Given the description of an element on the screen output the (x, y) to click on. 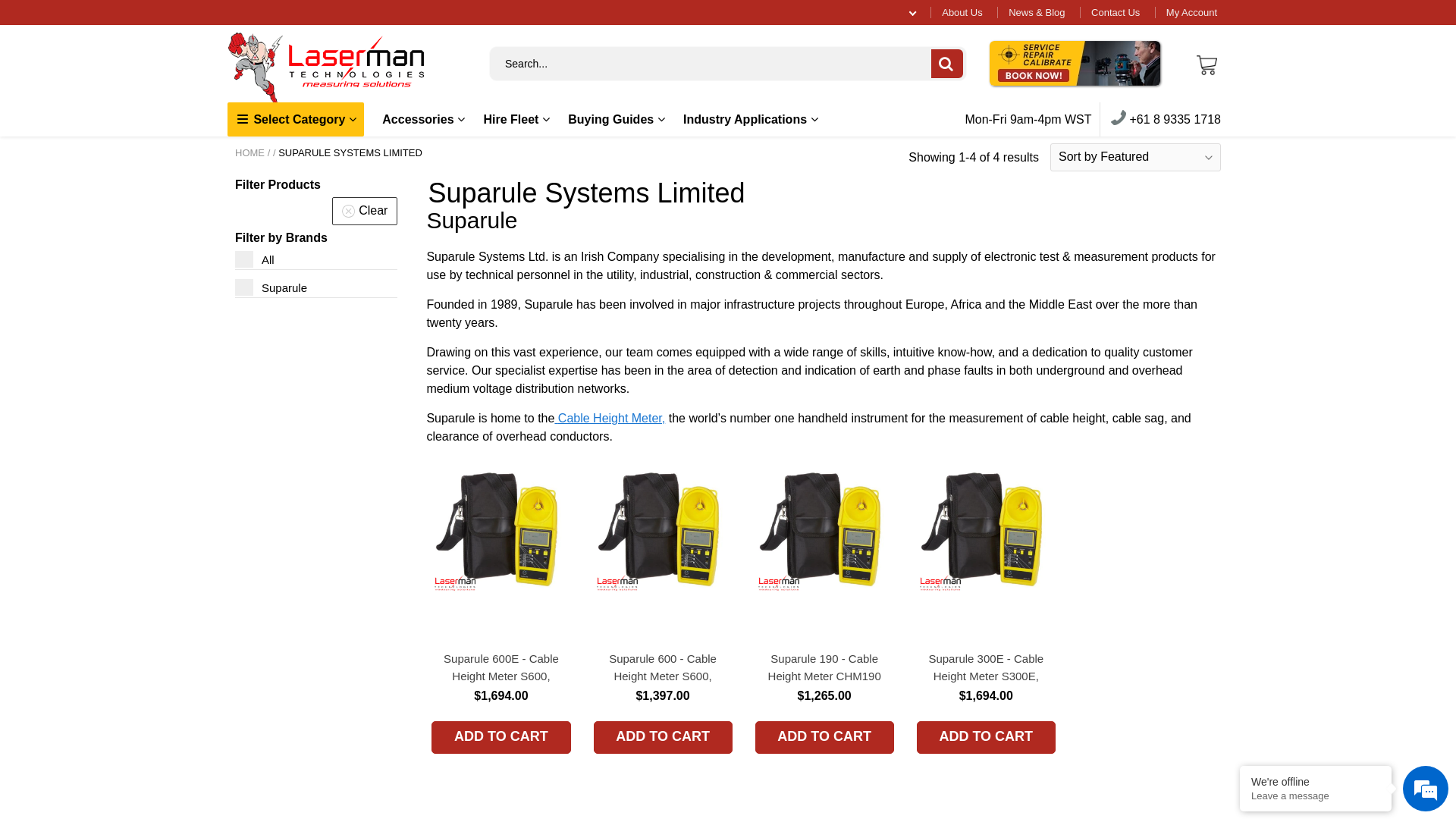
  Element type: text (555, 417)
Cable Height Meter Element type: hover (555, 417)
Contact Us Element type: text (1115, 12)
Suparule 600E - Cable Height Meter S600, CHM600 Element type: text (500, 667)
Industry Applications Element type: text (750, 119)
About Us Element type: text (961, 12)
Buying Guides Element type: text (615, 119)
+61 8 9335 1718 Element type: text (1165, 119)
Accessories Element type: text (423, 119)
ADD TO CART Element type: text (662, 737)
ADD TO CART Element type: text (985, 737)
ADD TO CART Element type: text (824, 737)
HOME Element type: text (249, 152)
Clear Element type: text (364, 211)
My Account Element type: text (1191, 12)
Cable Height Meter, Element type: text (611, 417)
Select Category Element type: text (295, 119)
Suparule 600 - Cable Height Meter S600, CHM600 Element type: text (662, 667)
ADD TO CART Element type: text (500, 737)
Suparule 190 - Cable Height Meter CHM190 Element type: text (824, 667)
News & Blog Element type: text (1036, 12)
Suparule 300E - Cable Height Meter S300E, CHM300E Element type: text (985, 667)
Hire Fleet Element type: text (516, 119)
